Given the description of an element on the screen output the (x, y) to click on. 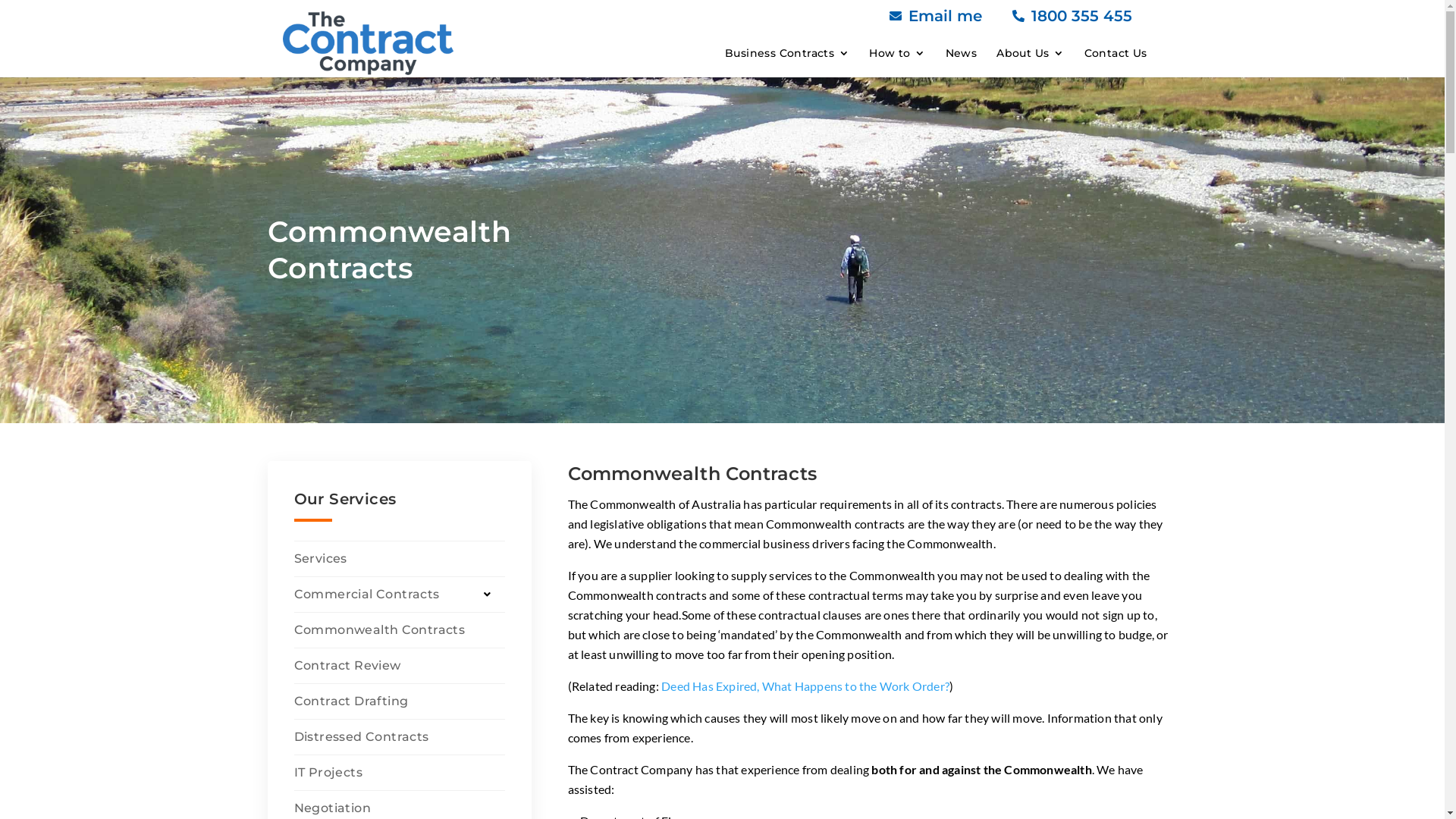
Deed Has Expired, What Happens to the Work Order? Element type: text (805, 685)
Email me Element type: text (945, 15)
Distressed Contracts Element type: text (399, 736)
Commonwealth Contracts Element type: text (399, 630)
How to Element type: text (897, 52)
Commercial Contracts Element type: text (399, 594)
1800 355 455 Element type: text (1081, 15)
Contact Us Element type: text (1115, 52)
Business Contracts Element type: text (786, 52)
Negotiation Element type: text (399, 808)
Contract Review Element type: text (399, 665)
IT Projects Element type: text (399, 772)
About Us Element type: text (1029, 52)
News Element type: text (961, 52)
Contract Drafting Element type: text (399, 701)
Services Element type: text (399, 558)
